Given the description of an element on the screen output the (x, y) to click on. 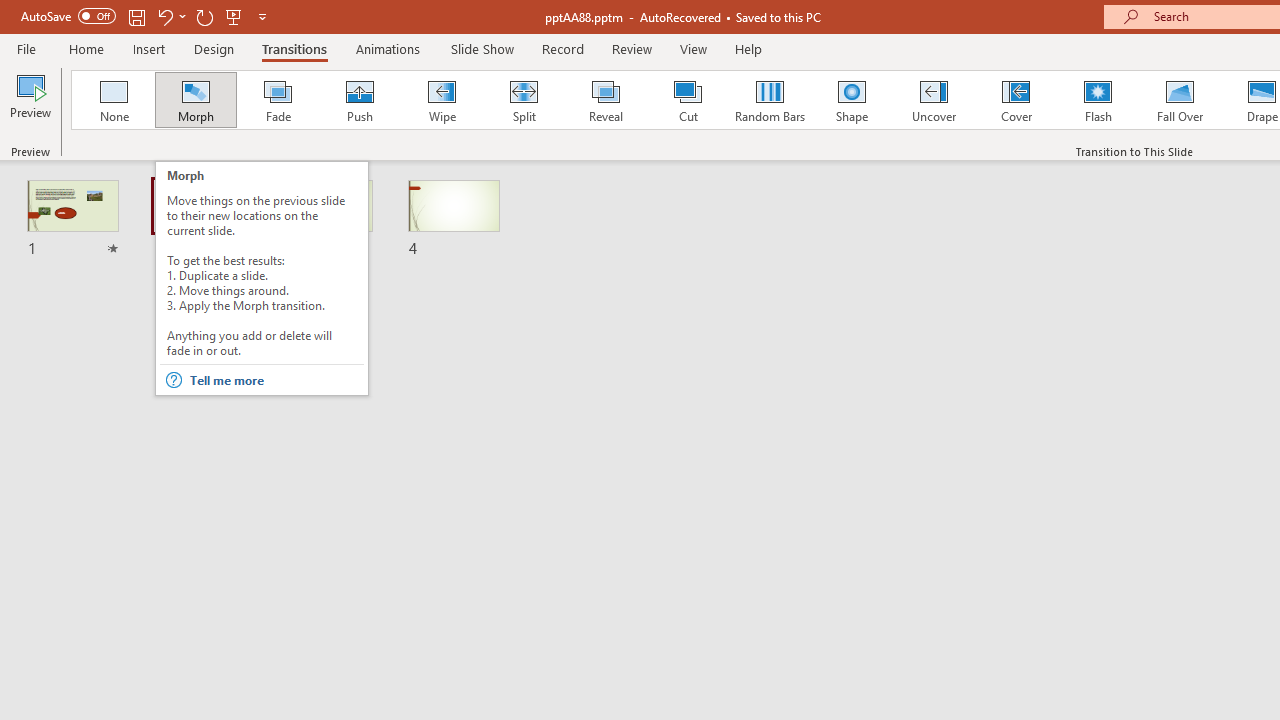
Reveal (605, 100)
